Given the description of an element on the screen output the (x, y) to click on. 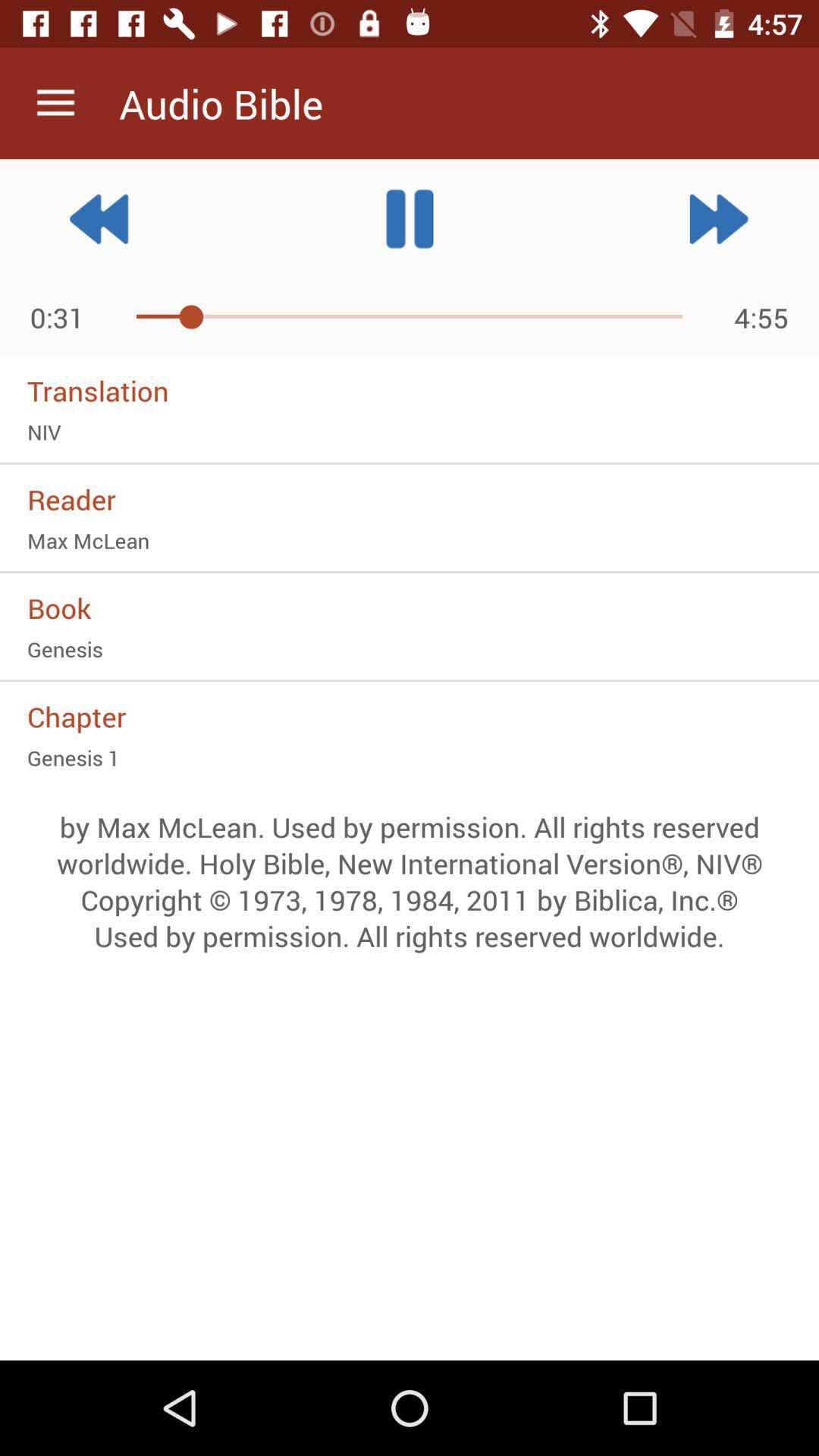
open icon next to the audio bible item (55, 103)
